Given the description of an element on the screen output the (x, y) to click on. 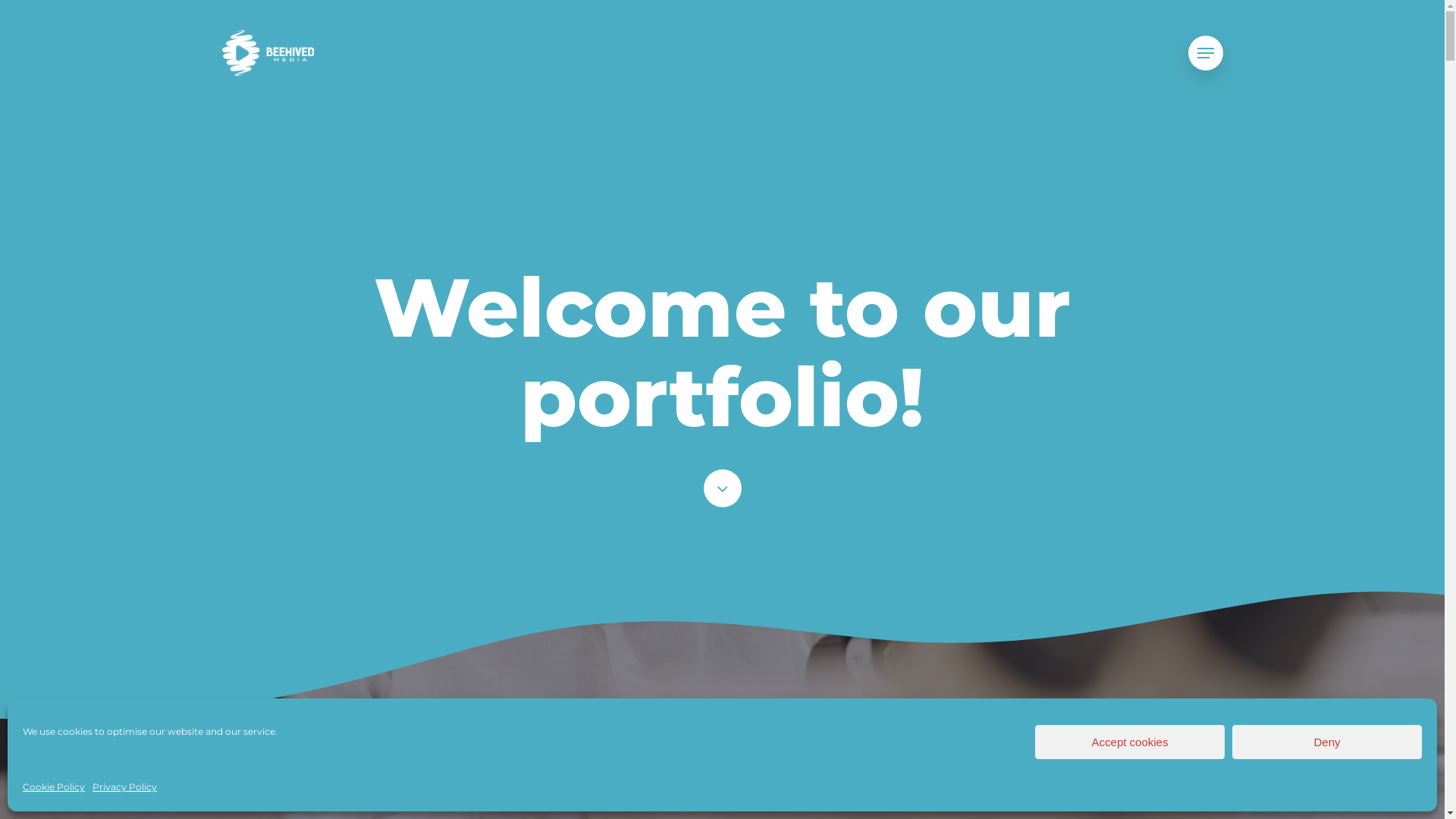
Privacy Policy Element type: text (124, 787)
Menu Element type: text (1204, 53)
Deny Element type: text (1326, 741)
Accept cookies Element type: text (1129, 741)
Cookie Policy Element type: text (53, 787)
